Given the description of an element on the screen output the (x, y) to click on. 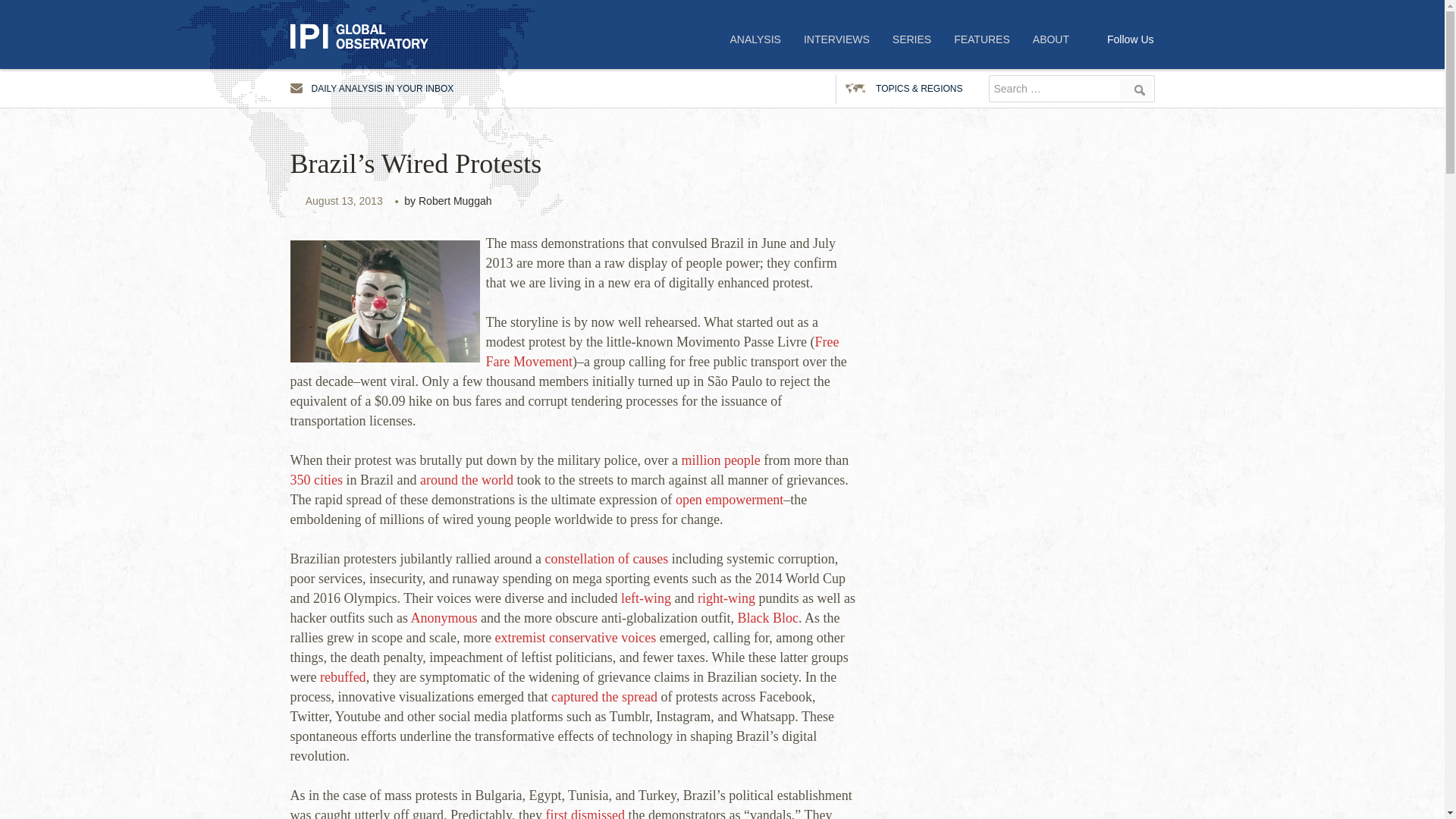
SERIES (911, 39)
FEATURES (982, 39)
ANALYSIS (754, 39)
IPI Global Observatory (365, 36)
Search for: (1053, 88)
Follow Us (1130, 39)
INTERVIEWS (836, 39)
ABOUT (1051, 39)
search (1136, 88)
DAILY ANALYSIS IN YOUR INBOX (372, 89)
